Given the description of an element on the screen output the (x, y) to click on. 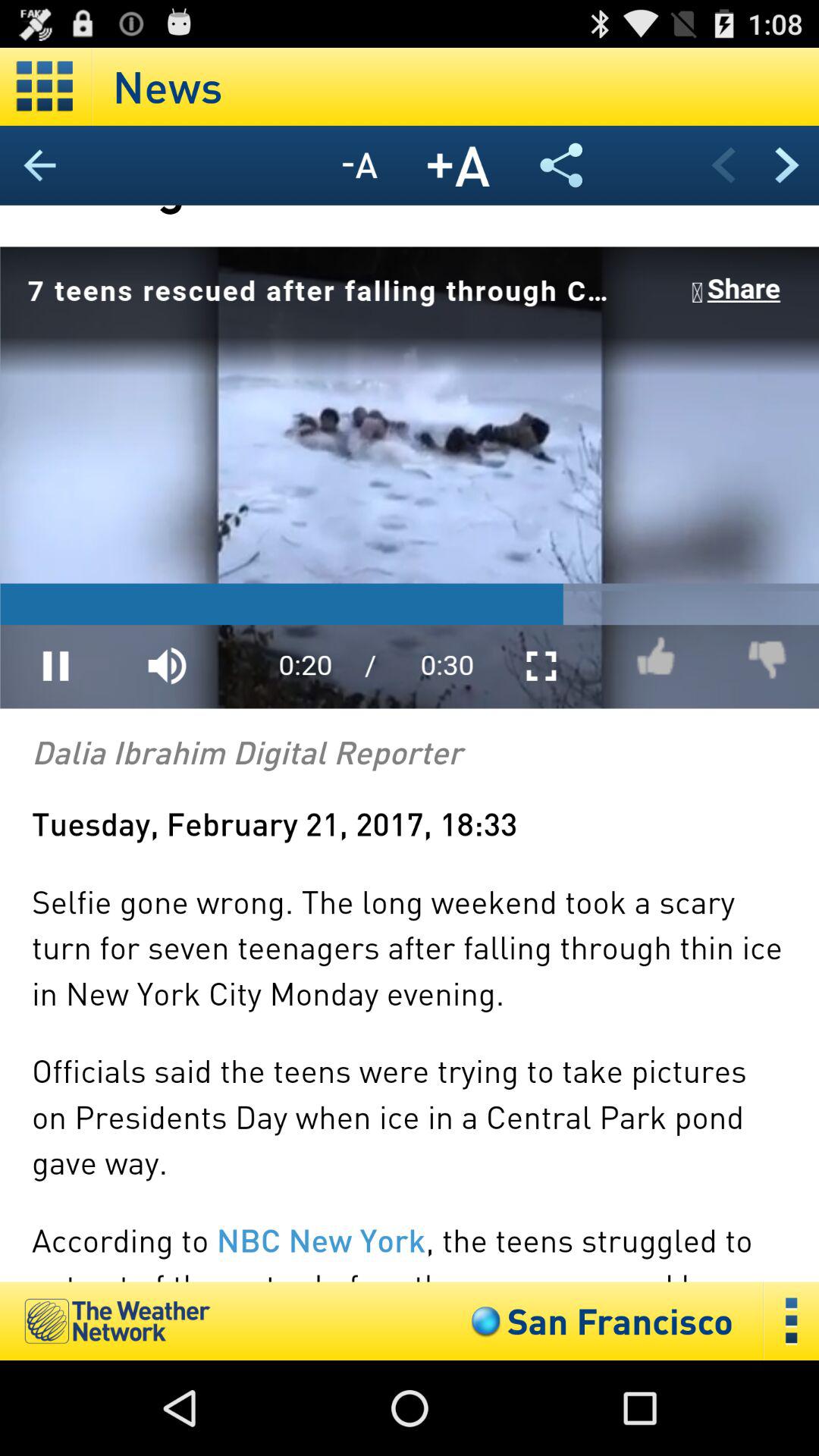
click on the more button at bottom right corner of the page (791, 1320)
select san francisco (599, 1321)
click on the left arrow at the top left (40, 164)
the arrow mark icon shown at the top right corner (787, 165)
